Given the description of an element on the screen output the (x, y) to click on. 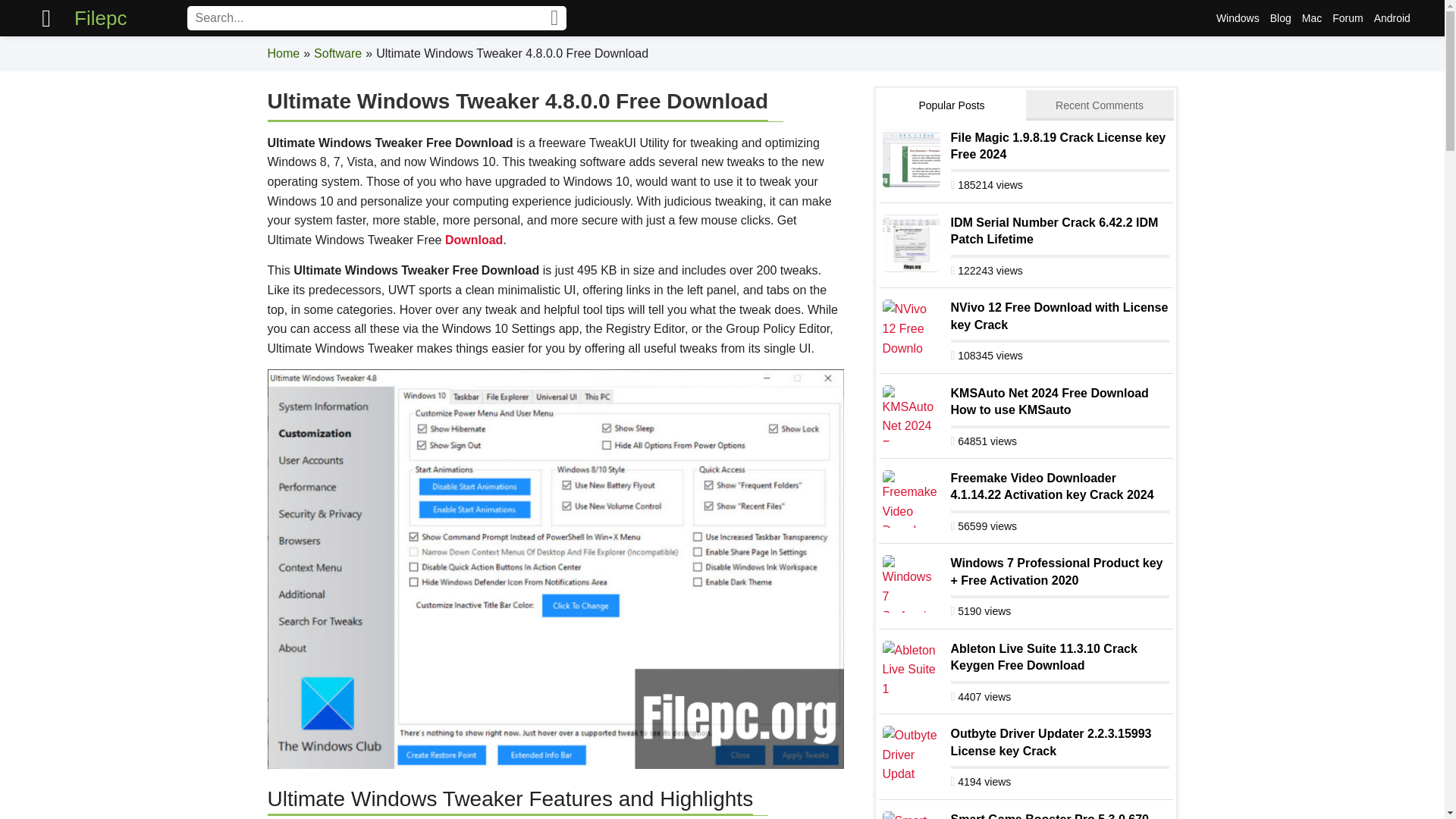
Mac (1311, 18)
Windows (1238, 18)
Filepc (100, 18)
Android (1391, 18)
Forum (1347, 18)
Blog (1281, 18)
